Given the description of an element on the screen output the (x, y) to click on. 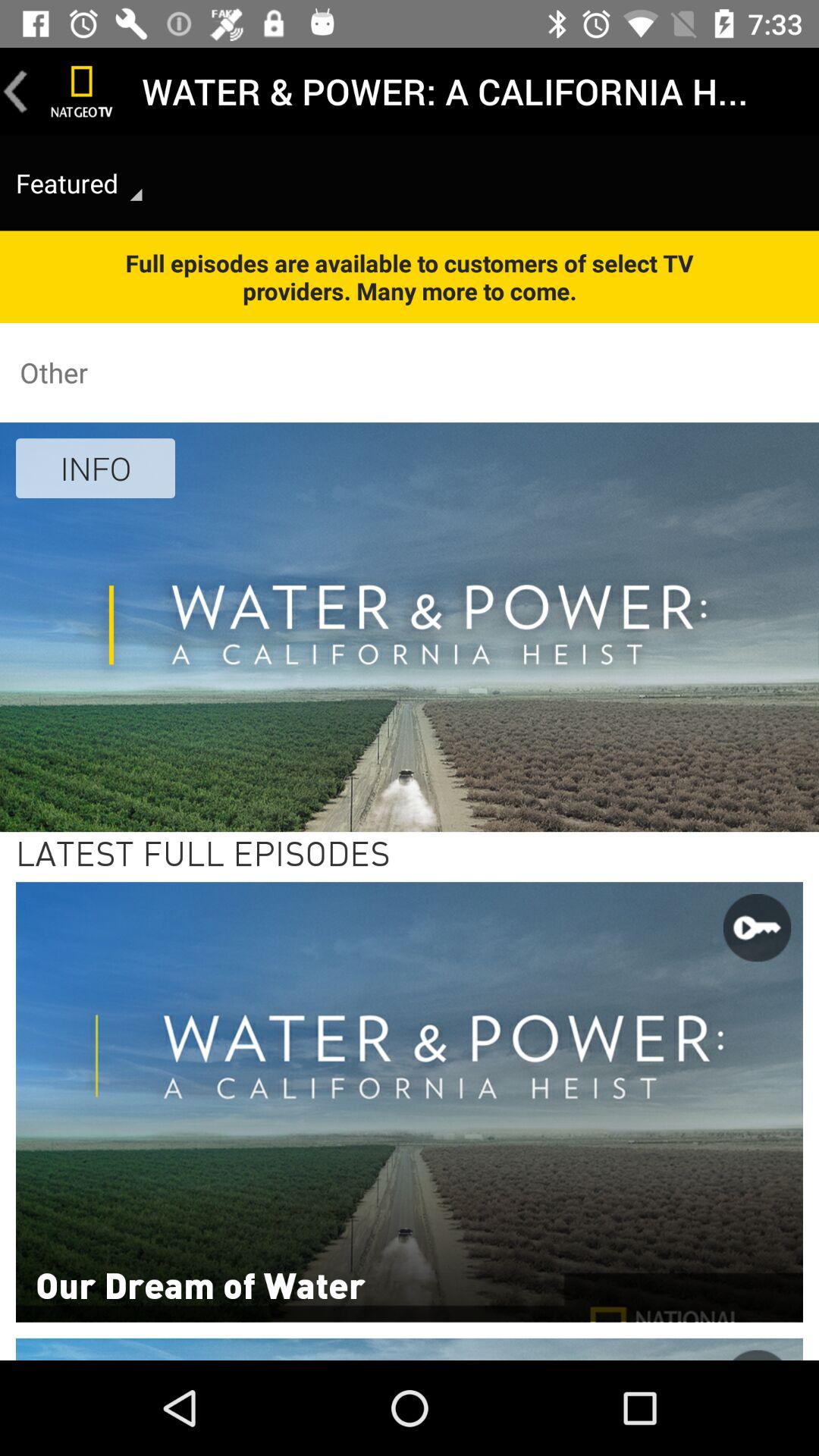
launch the icon next to the water power a icon (81, 91)
